Given the description of an element on the screen output the (x, y) to click on. 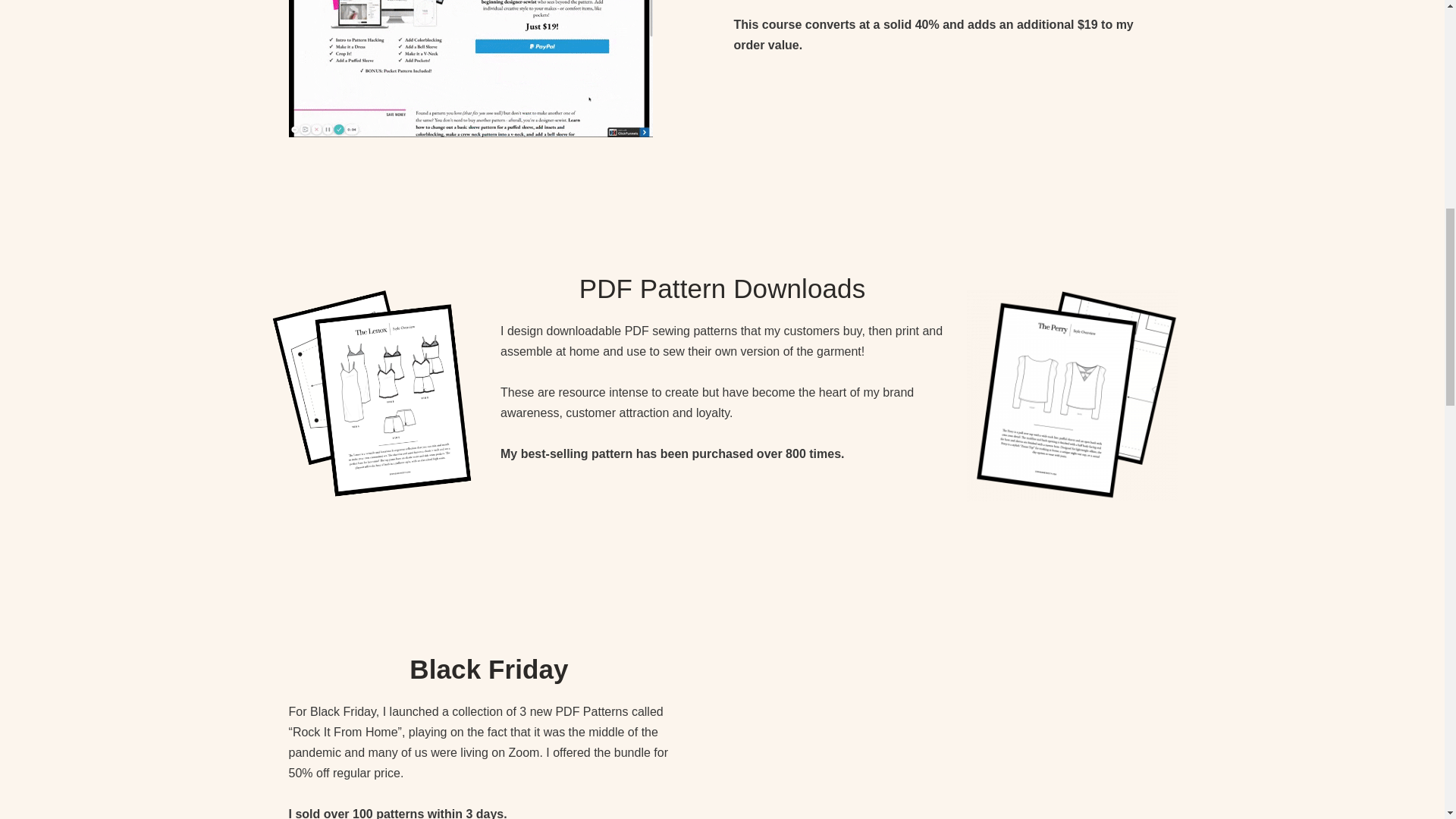
Rock it from home (944, 728)
